Given the description of an element on the screen output the (x, y) to click on. 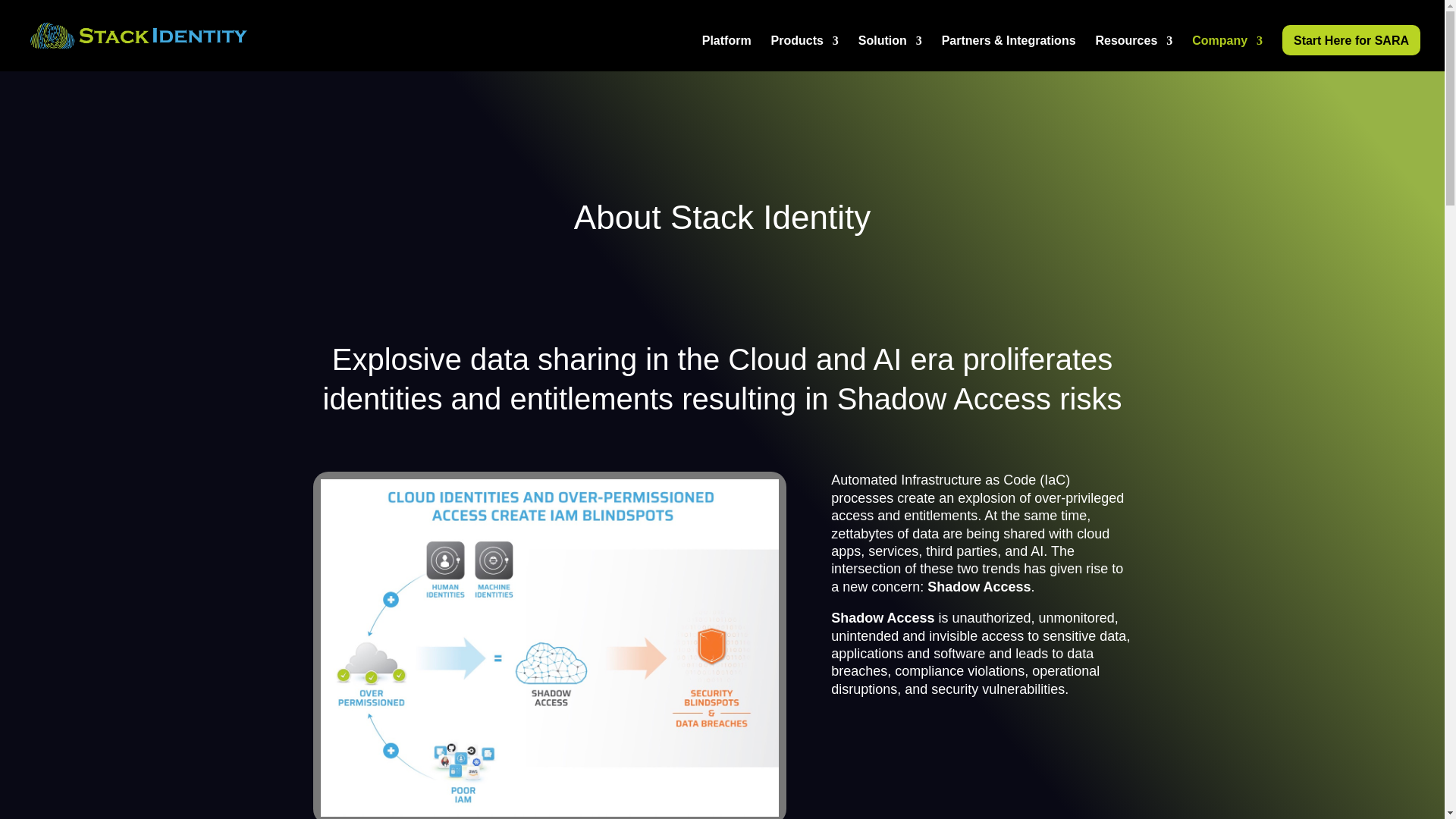
Company (1227, 53)
Products (804, 53)
Platform (726, 53)
Resources (1133, 53)
Solution (890, 53)
Start Here for SARA (1351, 40)
